Given the description of an element on the screen output the (x, y) to click on. 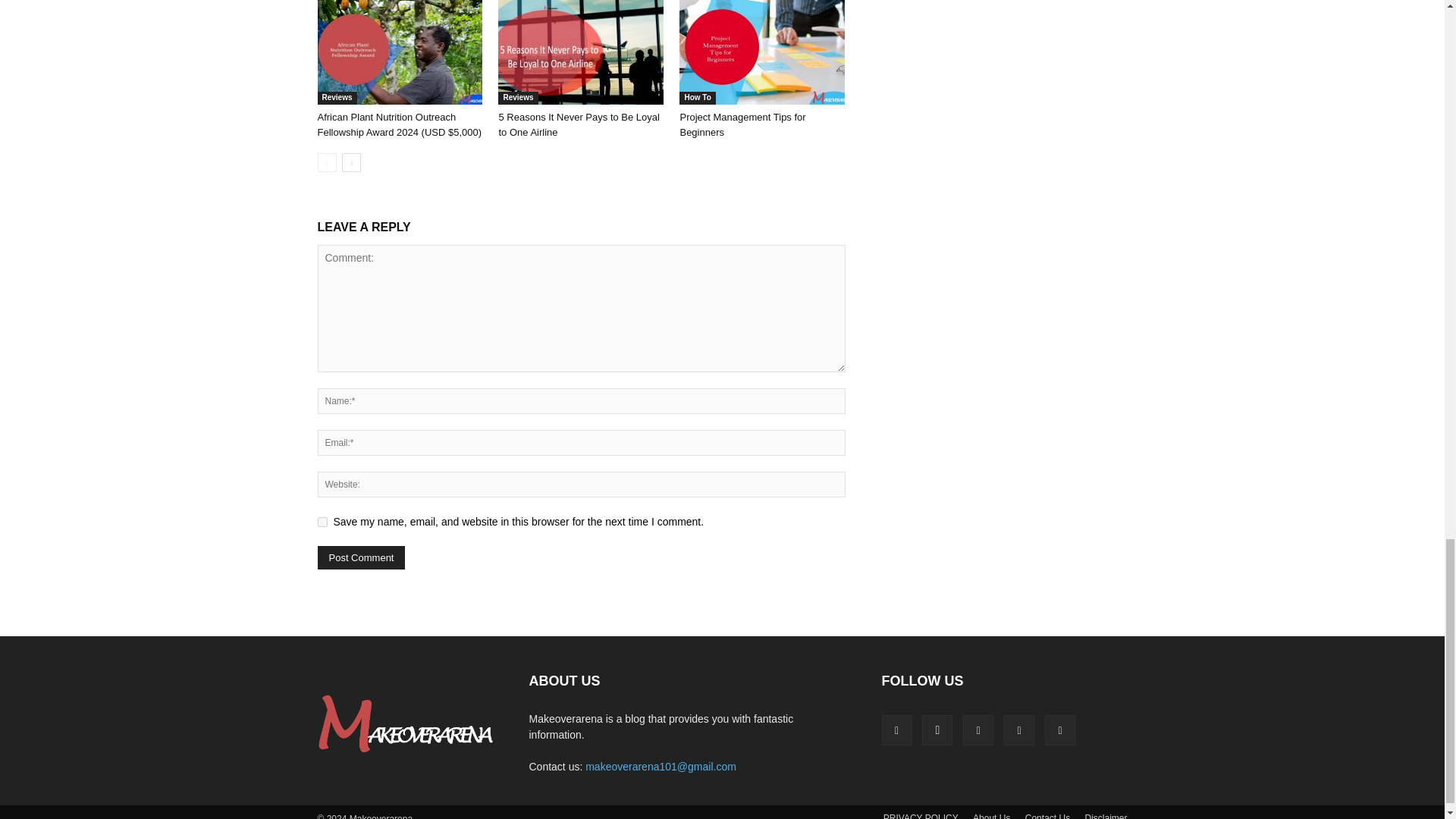
yes (321, 521)
Post Comment (360, 557)
